Given the description of an element on the screen output the (x, y) to click on. 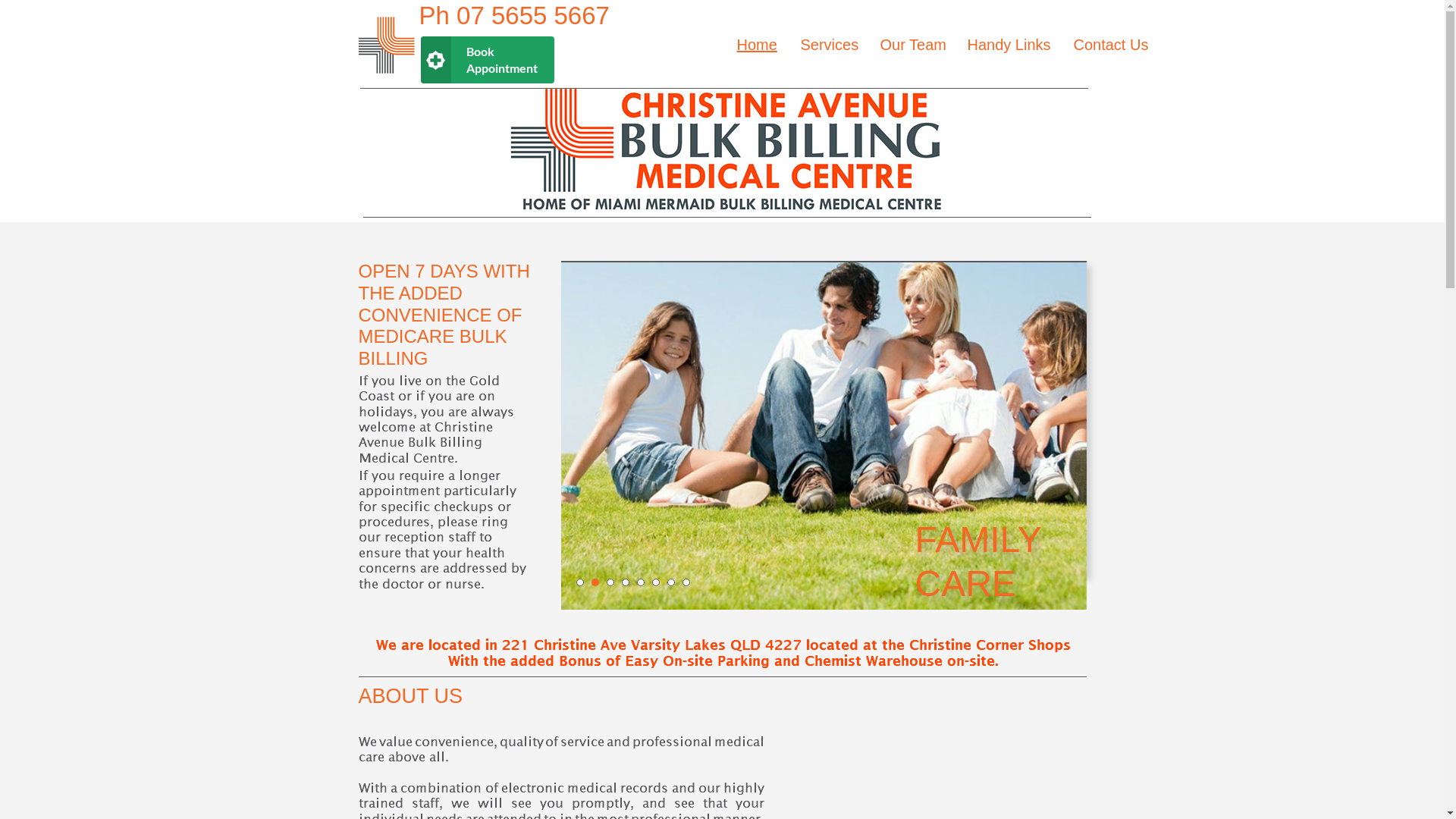
Handy Links Element type: text (1007, 44)
Home Element type: text (755, 44)
07 5655 5667 Element type: text (532, 15)
Contact Us Element type: text (1107, 44)
Book Appointment Element type: text (486, 59)
Our Team Element type: text (911, 44)
Services Element type: text (827, 44)
